Given the description of an element on the screen output the (x, y) to click on. 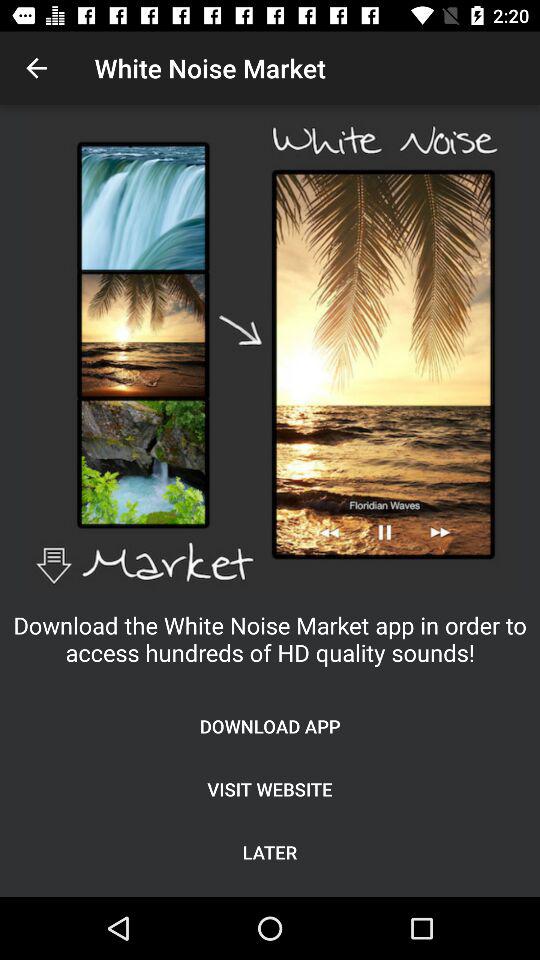
select the item below download app (269, 788)
